Given the description of an element on the screen output the (x, y) to click on. 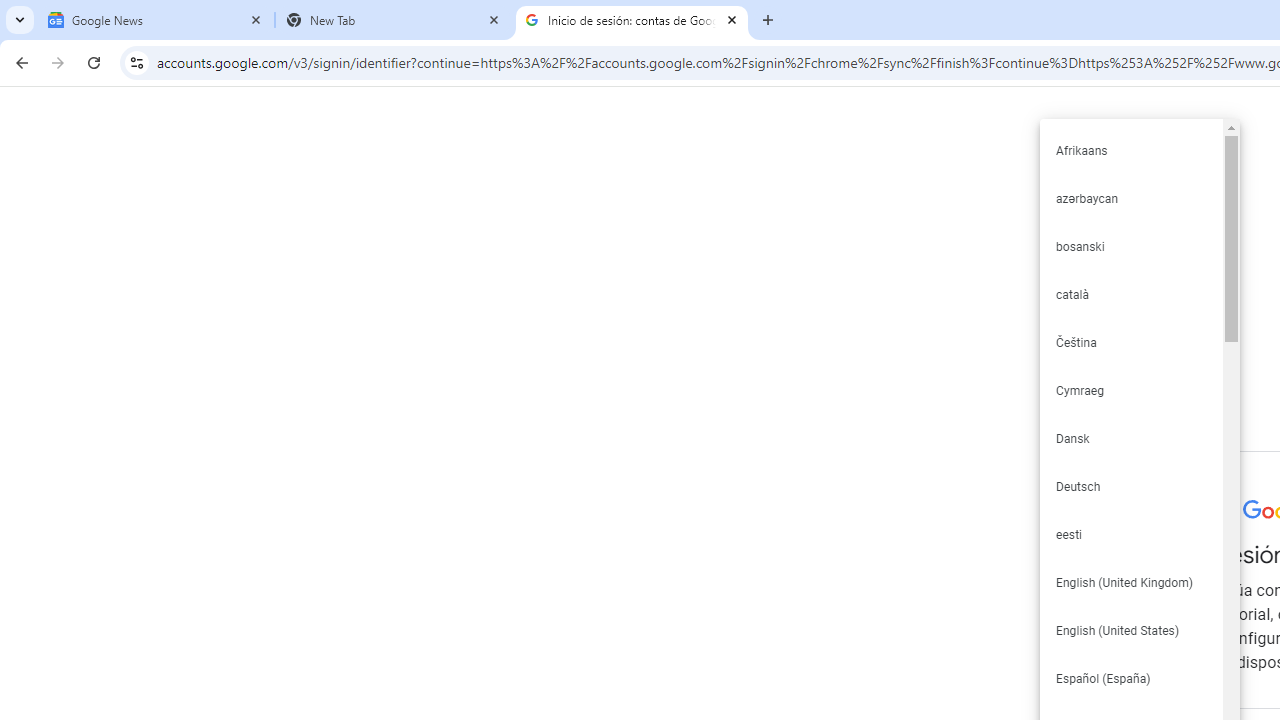
New Tab (394, 20)
Cymraeg (1130, 390)
Deutsch (1130, 486)
Forward (57, 62)
Back (19, 62)
eesti (1130, 534)
System (10, 11)
Dansk (1130, 438)
New Tab (767, 20)
System (10, 11)
Afrikaans (1130, 150)
Close (732, 19)
